Given the description of an element on the screen output the (x, y) to click on. 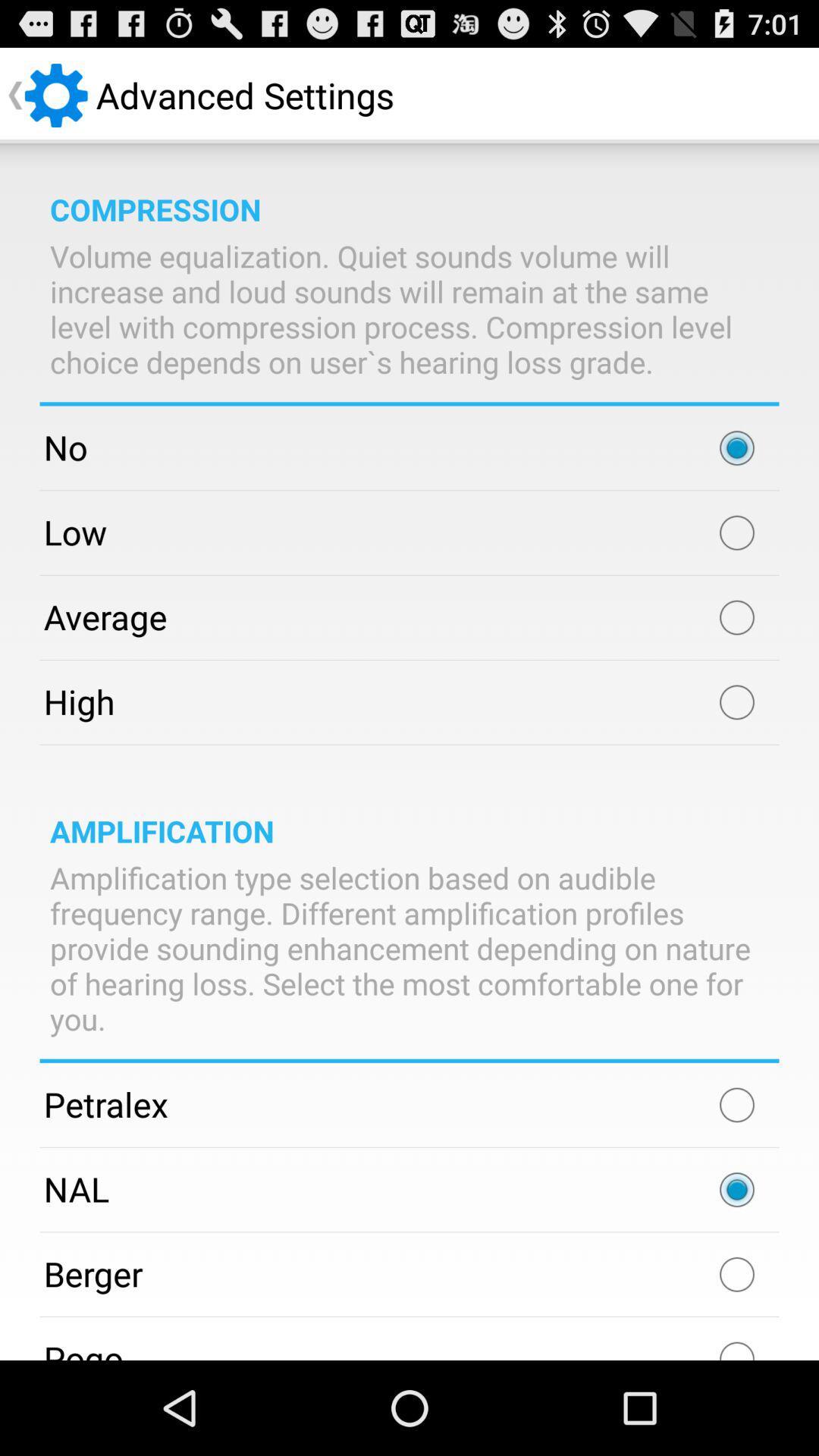
select low compression (736, 532)
